Given the description of an element on the screen output the (x, y) to click on. 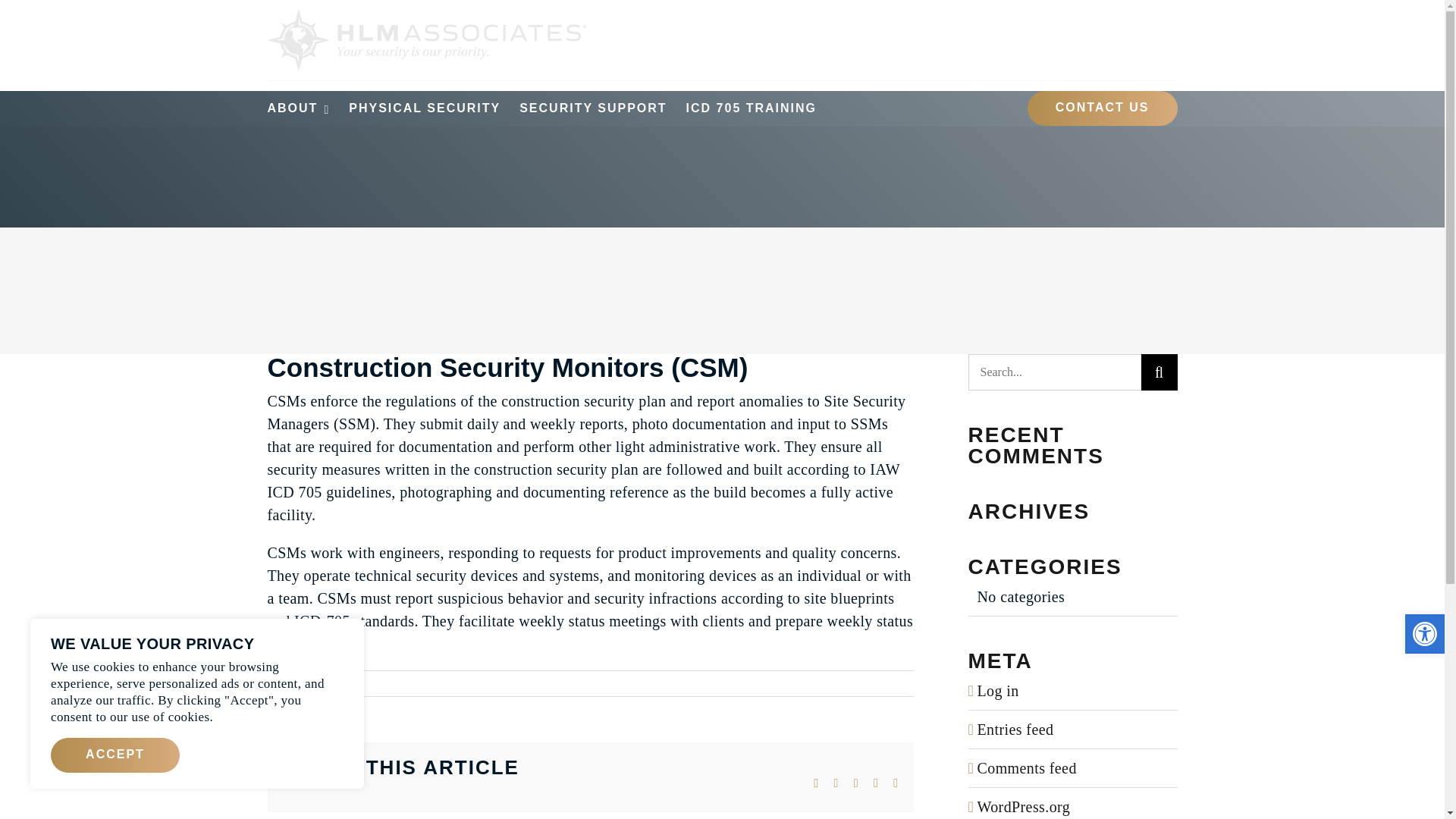
CONTACT US (1102, 108)
ICD 705 TRAINING (750, 108)
PHYSICAL SECURITY (424, 108)
ACCEPT (114, 755)
Accessibility Tools (1424, 633)
ABOUT (298, 108)
SECURITY SUPPORT (592, 108)
